Given the description of an element on the screen output the (x, y) to click on. 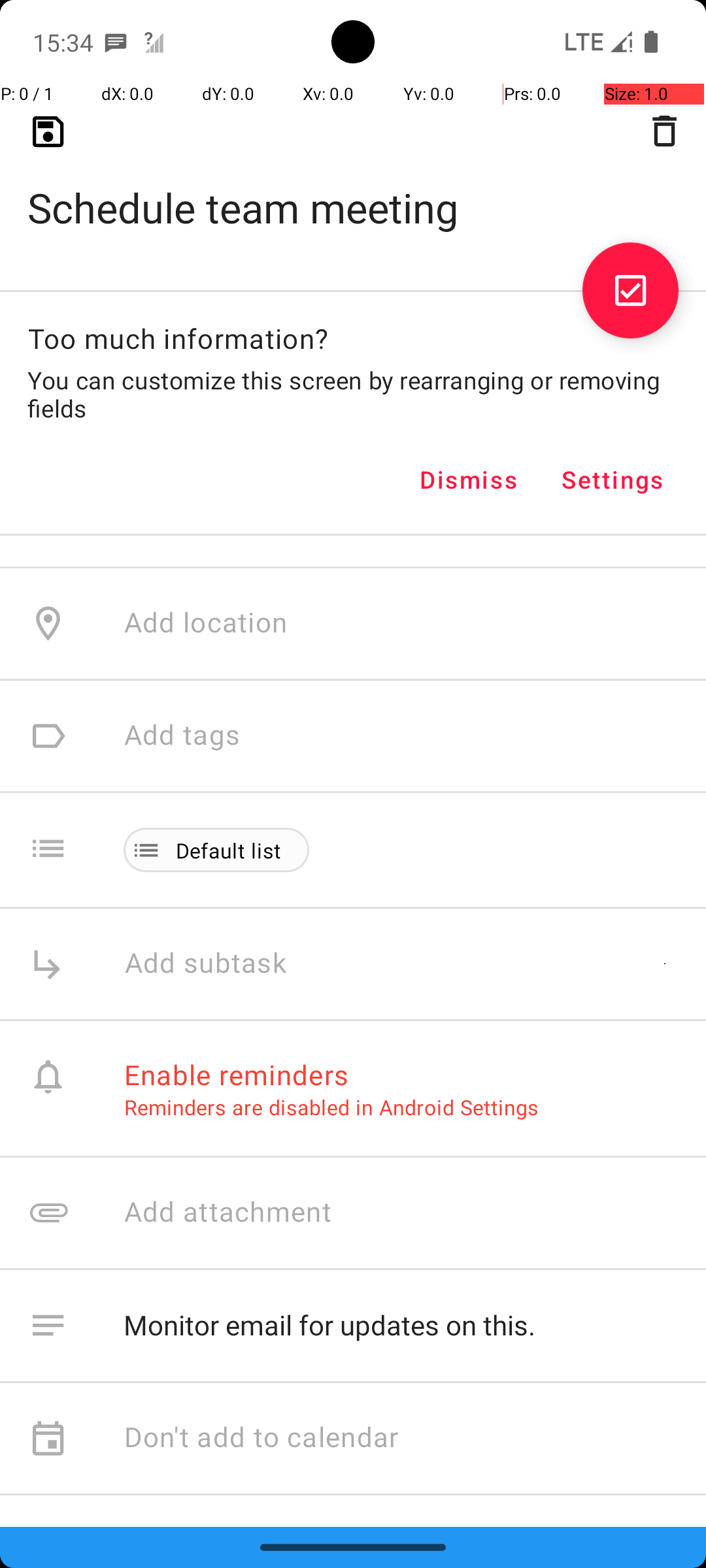
Schedule team meeting Element type: android.widget.EditText (353, 186)
Saturday, October 28 Element type: android.widget.TextView (258, 284)
Monitor email for updates on this. Element type: android.widget.EditText (400, 1325)
Don't add to calendar Element type: android.widget.TextView (261, 1437)
